Given the description of an element on the screen output the (x, y) to click on. 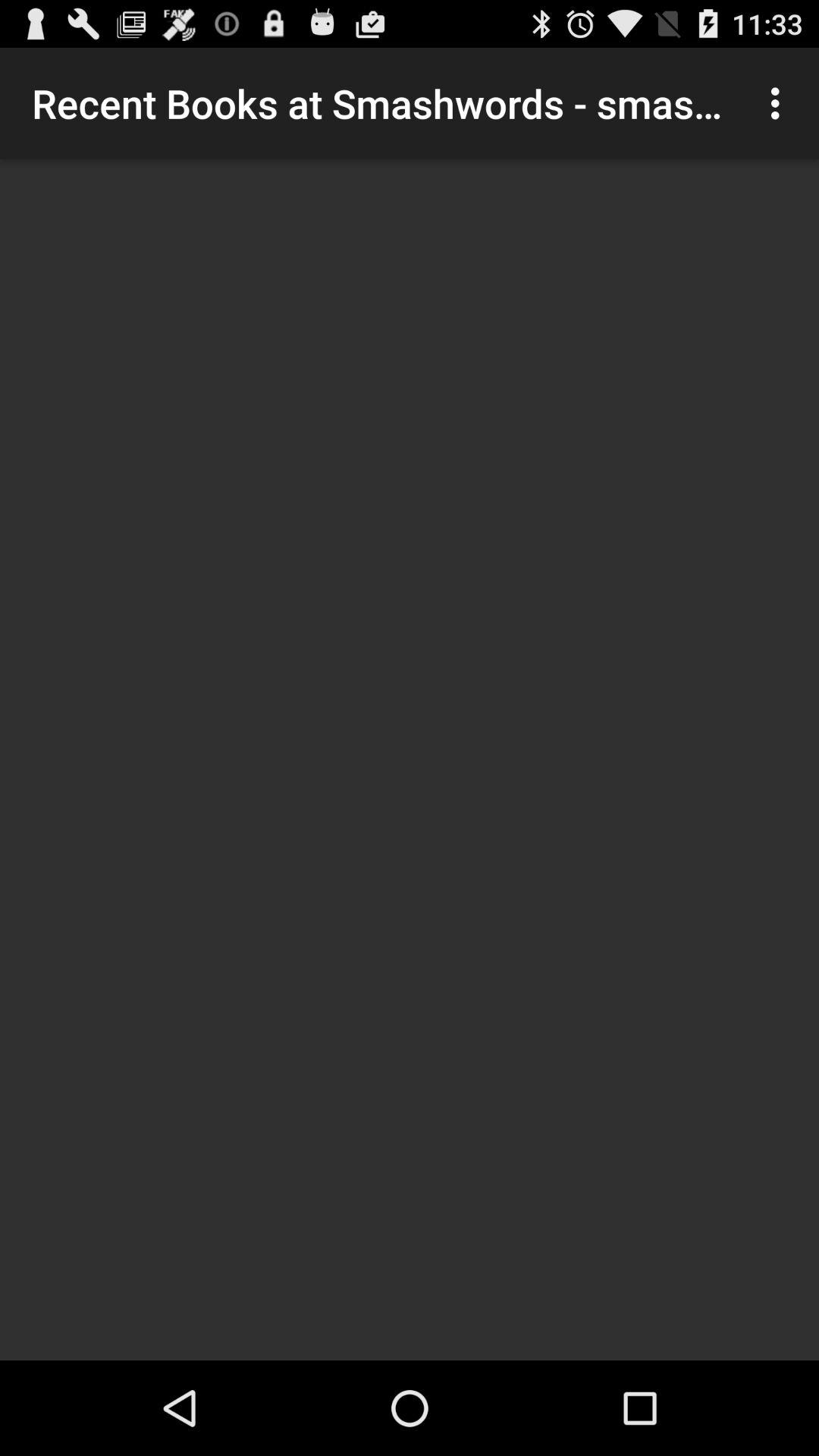
choose icon to the right of recent books at (779, 103)
